Given the description of an element on the screen output the (x, y) to click on. 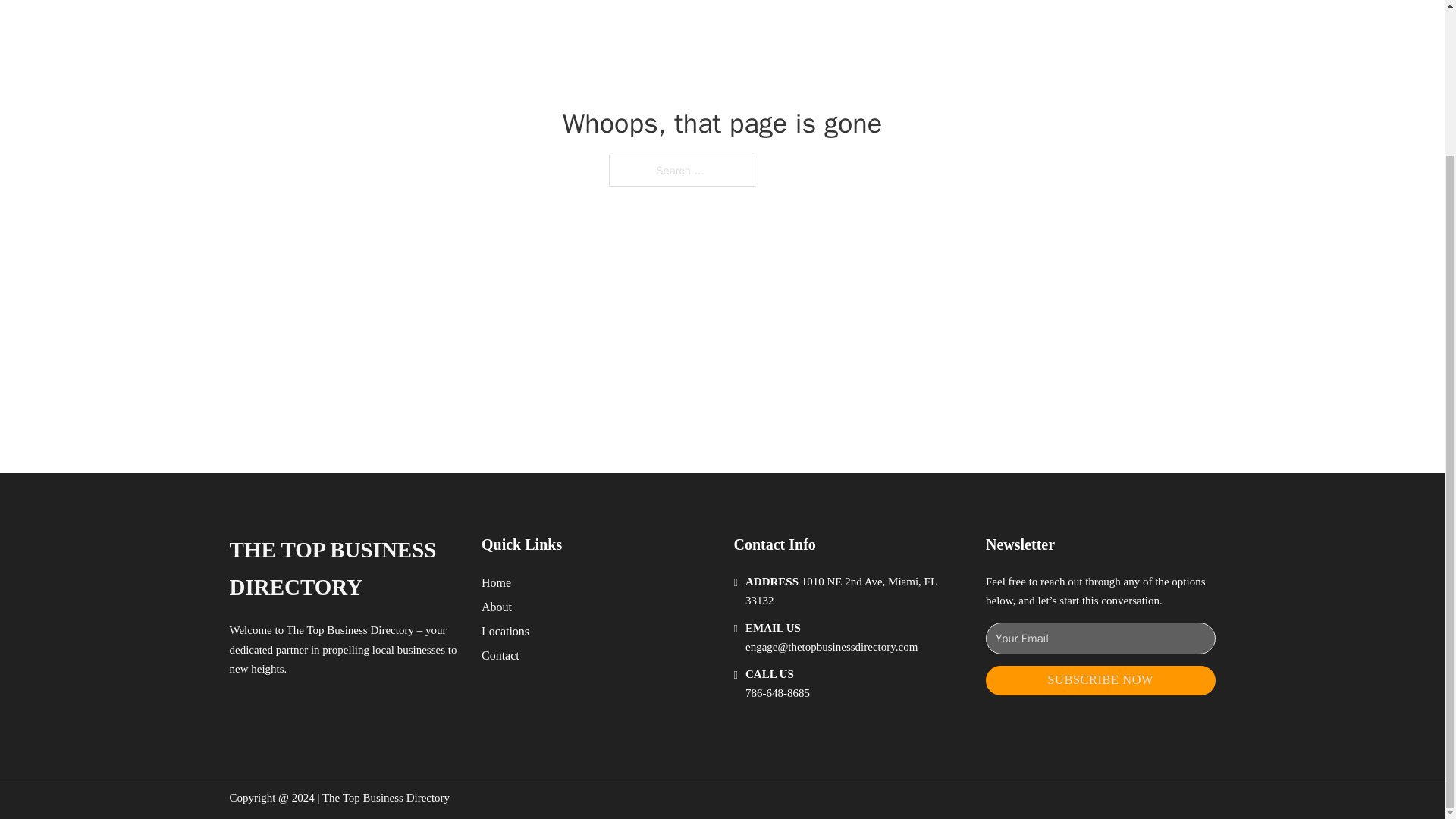
SUBSCRIBE NOW (1100, 680)
THE TOP BUSINESS DIRECTORY (343, 568)
About (496, 607)
Locations (505, 630)
786-648-8685 (777, 693)
Home (496, 582)
Contact (500, 655)
